Given the description of an element on the screen output the (x, y) to click on. 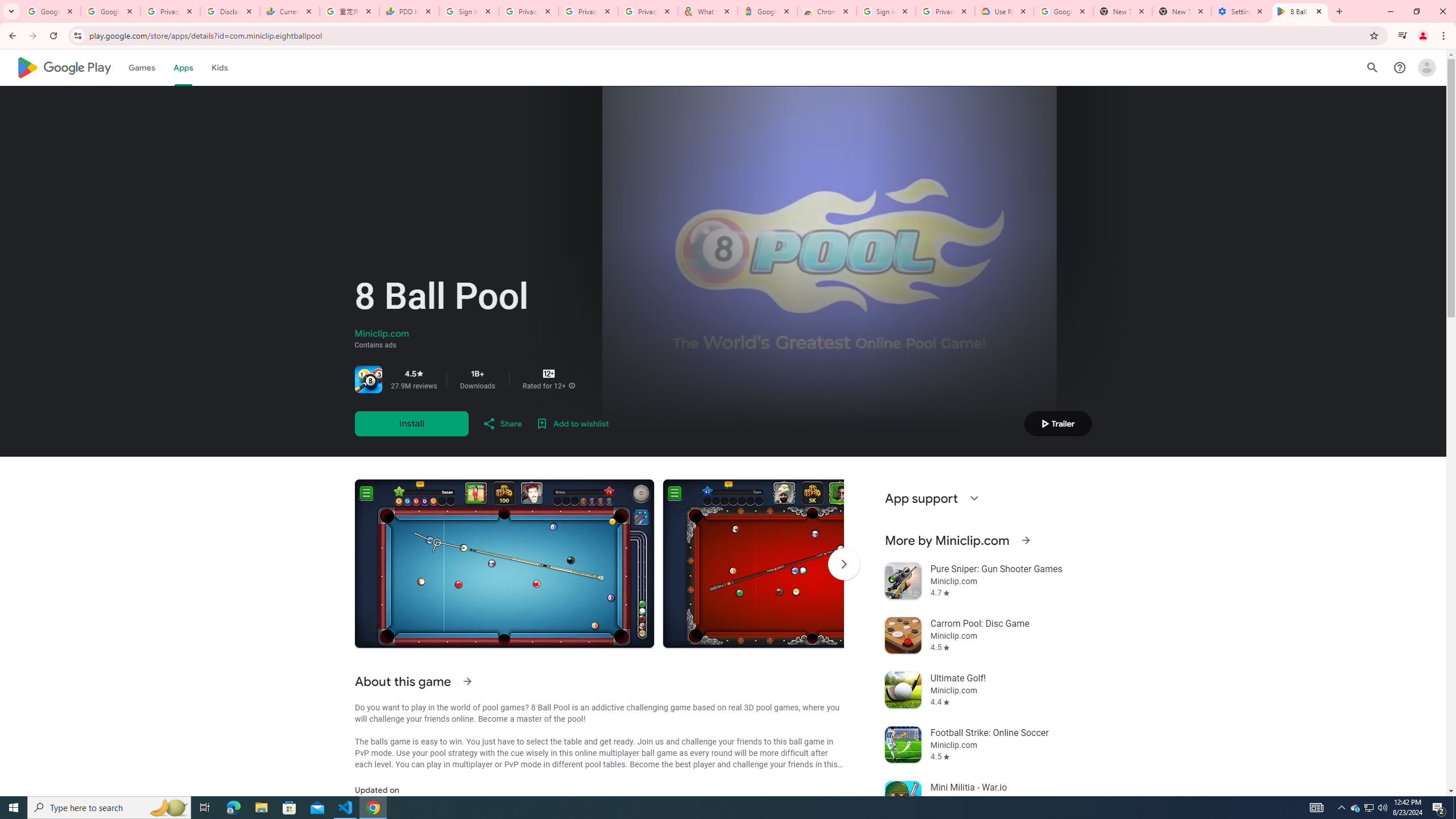
Search (1372, 67)
